Given the description of an element on the screen output the (x, y) to click on. 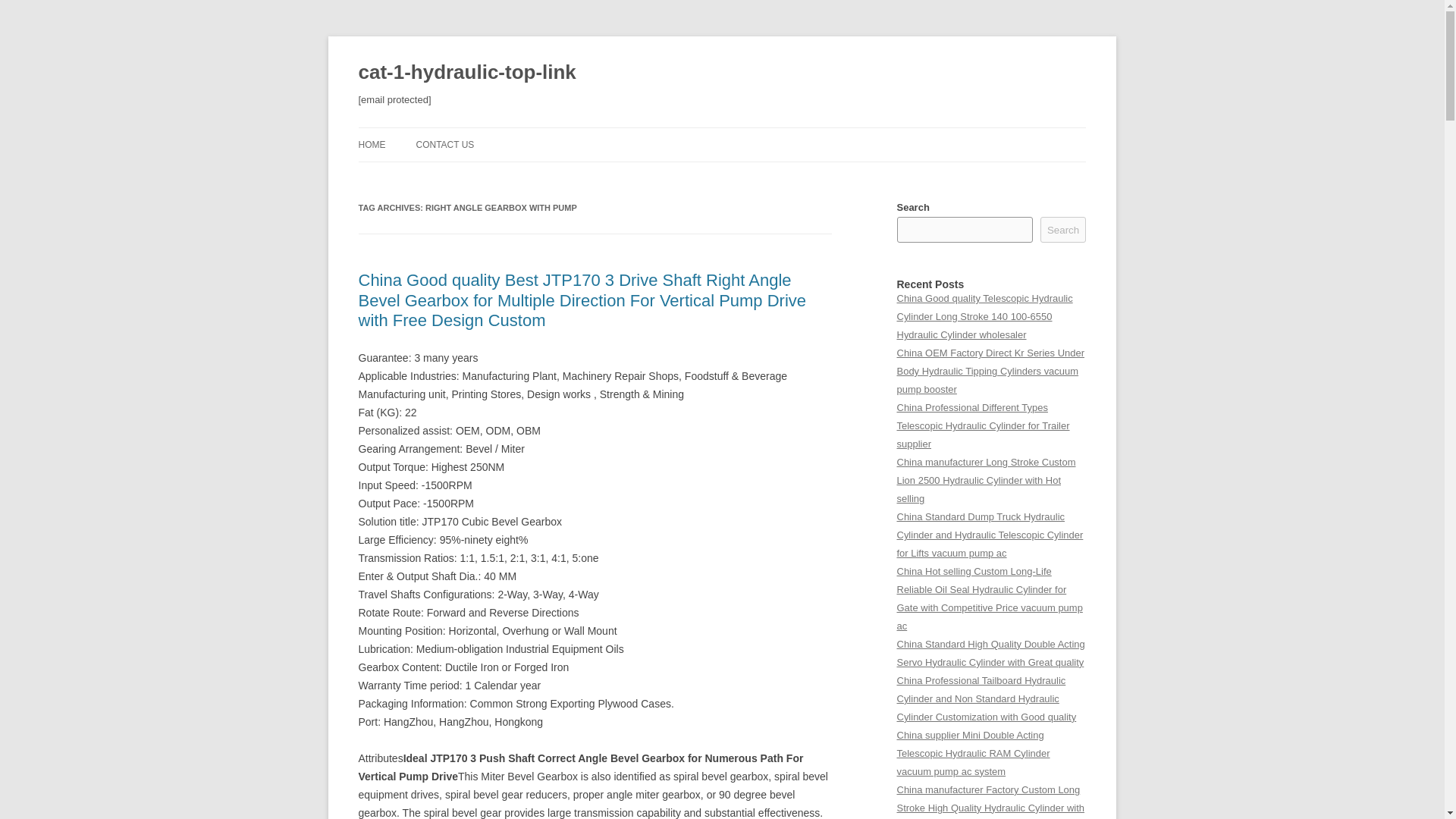
cat-1-hydraulic-top-link (466, 72)
cat-1-hydraulic-top-link (466, 72)
Search (1063, 229)
CONTACT US (444, 144)
